Given the description of an element on the screen output the (x, y) to click on. 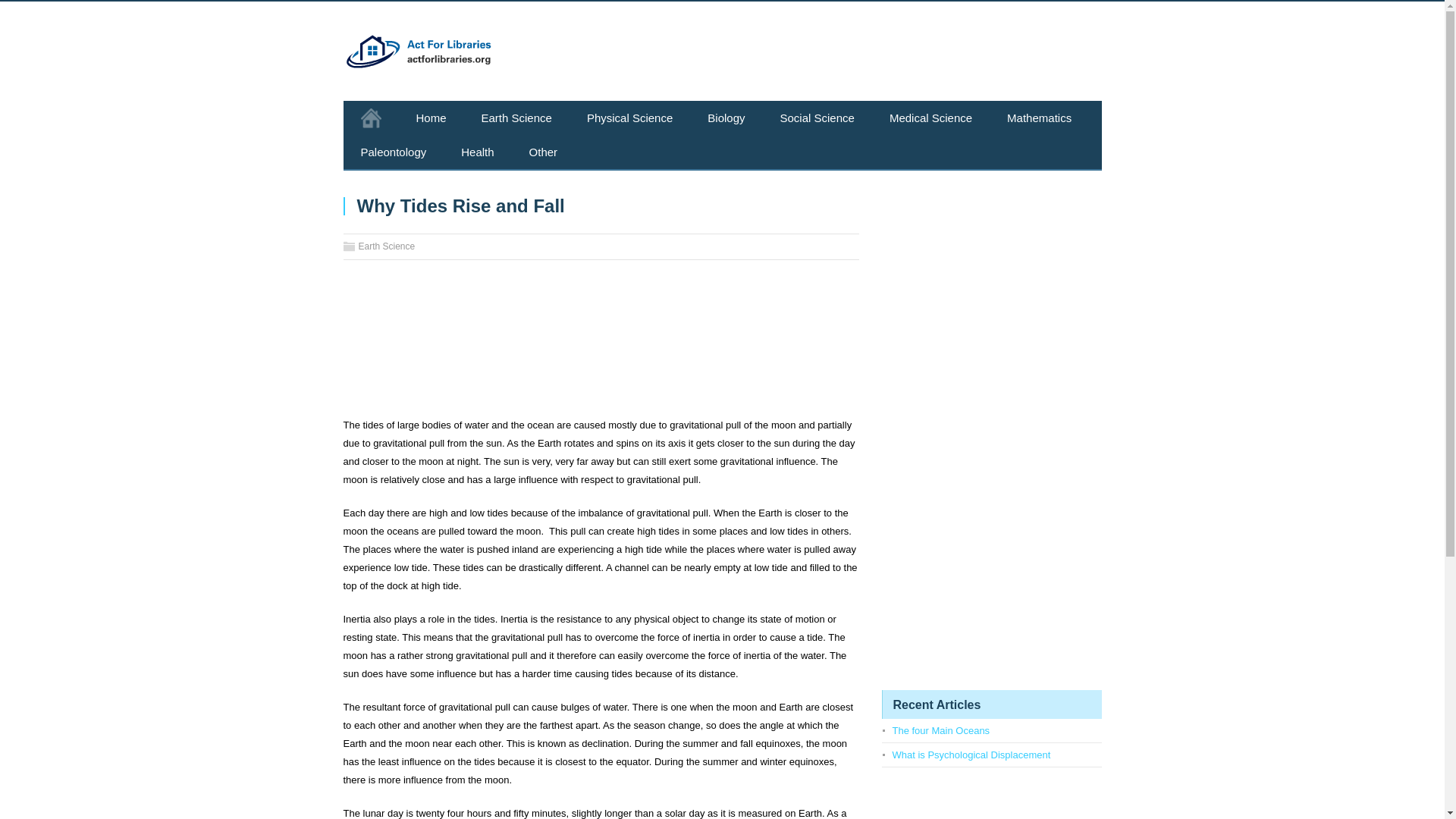
Social Science (817, 117)
Earth Science (386, 245)
Advertisement (600, 344)
Physical Science (629, 117)
Mathematics (1039, 117)
Other (543, 151)
Home (431, 117)
Earth Science (516, 117)
Biology (725, 117)
Medical Science (931, 117)
